Given the description of an element on the screen output the (x, y) to click on. 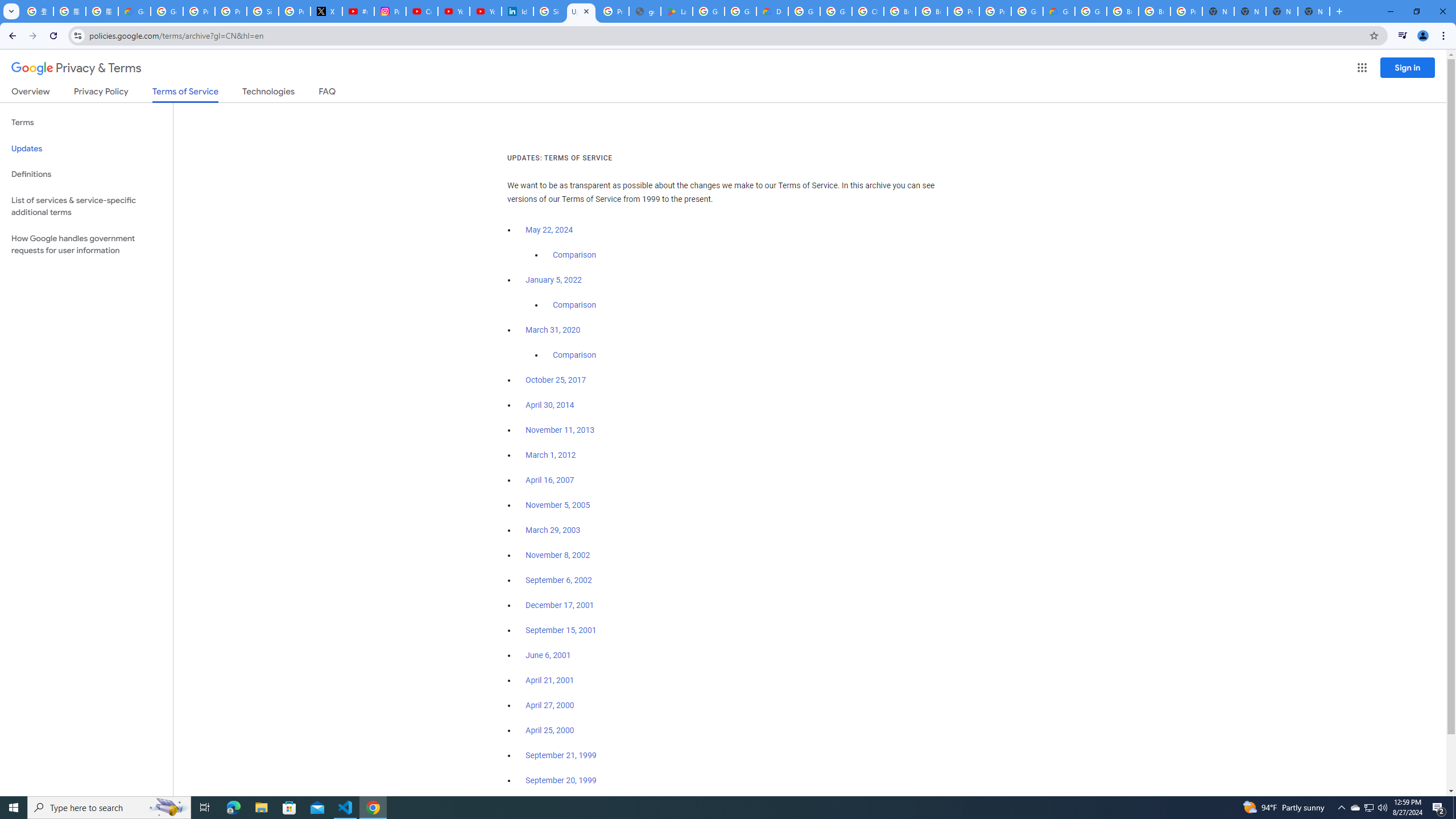
Google Cloud Privacy Notice (134, 11)
November 8, 2002 (557, 555)
November 5, 2005 (557, 505)
Google Cloud Platform (1091, 11)
March 1, 2012 (550, 455)
April 16, 2007 (550, 480)
